Given the description of an element on the screen output the (x, y) to click on. 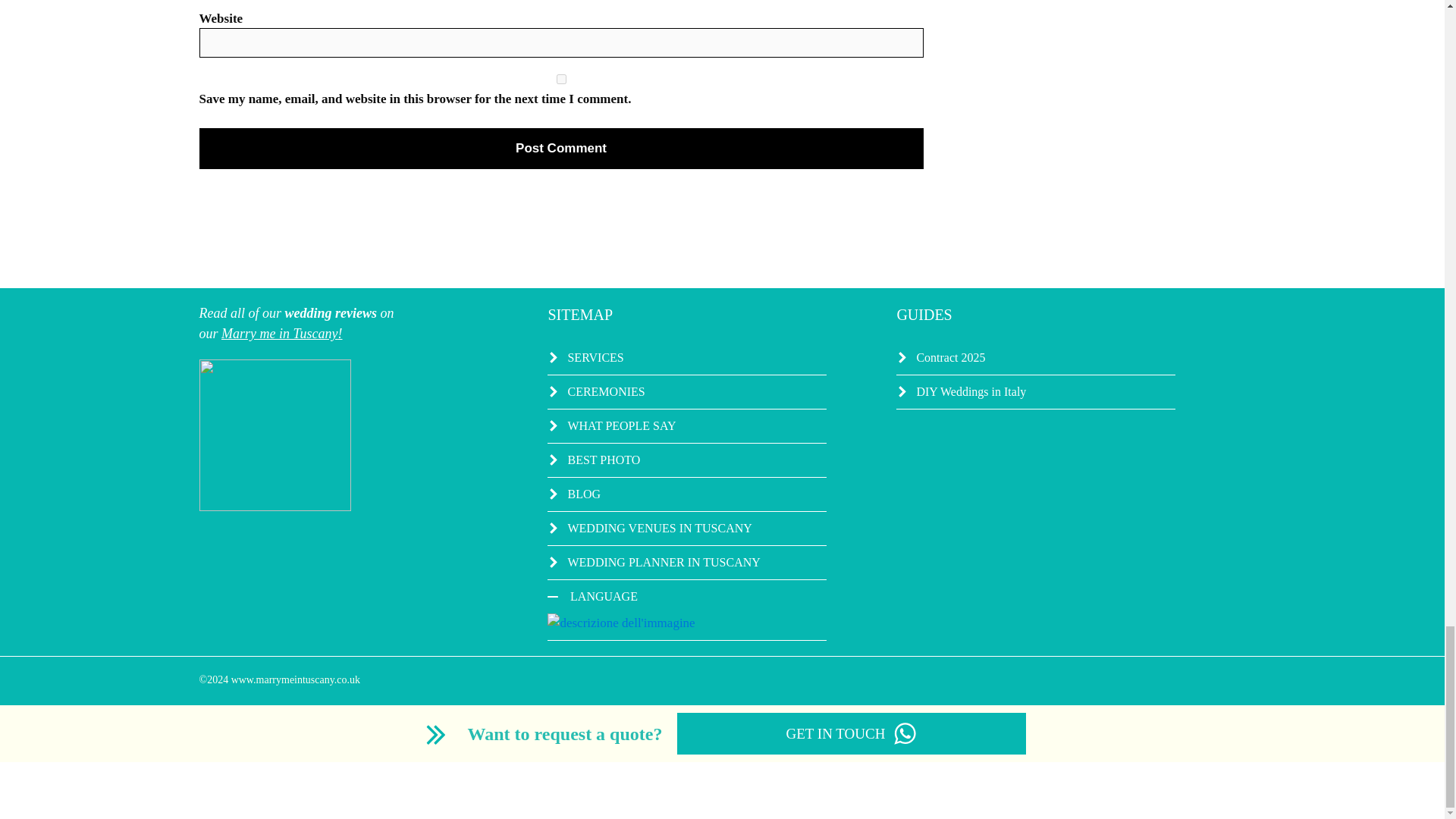
Marry me in Tuscany (279, 333)
CEREMONIES (687, 392)
yes (560, 79)
WHAT PEOPLE SAY (687, 426)
Post Comment (560, 147)
SERVICES (687, 358)
Post Comment (560, 147)
WEDDING VENUES IN TUSCANY (687, 528)
BLOG (687, 494)
WEDDING PLANNER IN TUSCANY (687, 562)
